Given the description of an element on the screen output the (x, y) to click on. 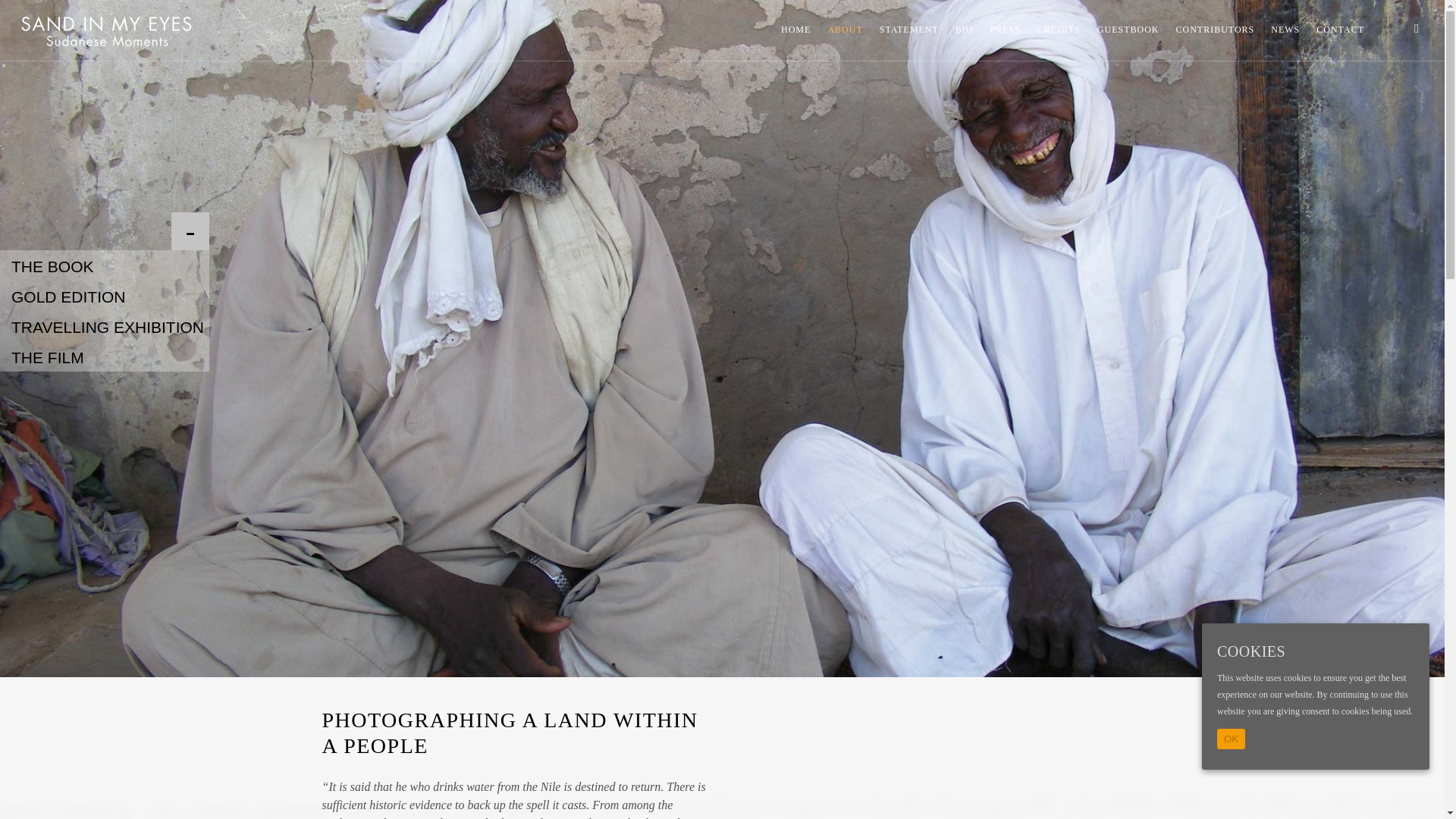
CREDITS (1058, 35)
NEWS (1285, 35)
- (104, 231)
ABOUT (844, 35)
THE BOOK (104, 265)
CONTACT (1339, 35)
PRESS (1004, 35)
CONTRIBUTORS (1214, 35)
HOME (795, 35)
STATEMENT (909, 35)
